Given the description of an element on the screen output the (x, y) to click on. 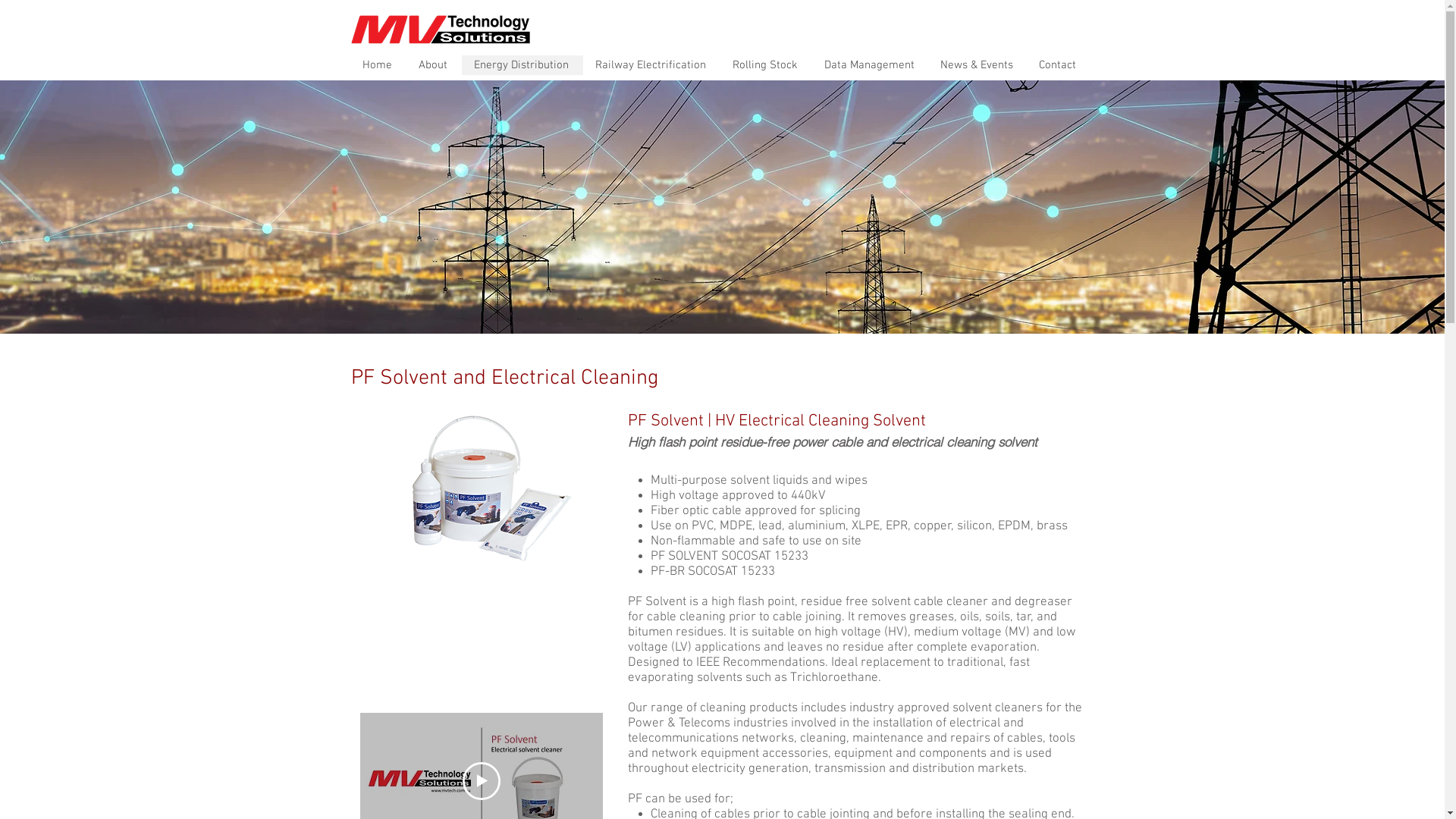
Energy Distribution Element type: text (521, 65)
Railway Electrification Element type: text (650, 65)
About Element type: text (433, 65)
News & Events Element type: text (977, 65)
Contact Element type: text (1057, 65)
Rolling Stock Element type: text (766, 65)
Site Search Element type: hover (998, 24)
Home Element type: text (377, 65)
Data Management Element type: text (869, 65)
